Given the description of an element on the screen output the (x, y) to click on. 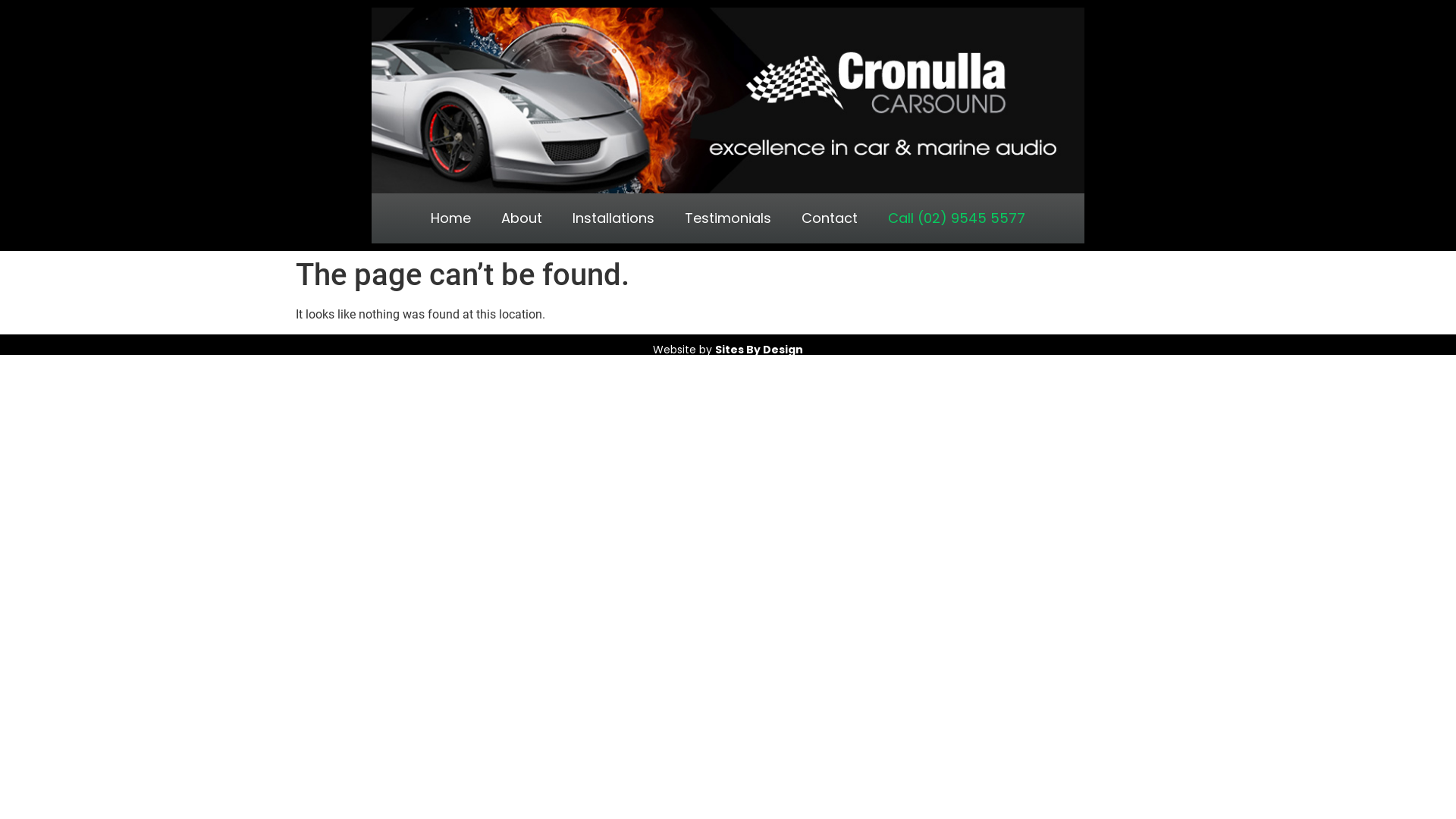
Contact Element type: text (829, 217)
About Element type: text (521, 217)
Testimonials Element type: text (727, 217)
Home Element type: text (450, 217)
Call (02) 9545 5577 Element type: text (956, 217)
Sites By Design Element type: text (759, 349)
Installations Element type: text (613, 217)
